Given the description of an element on the screen output the (x, y) to click on. 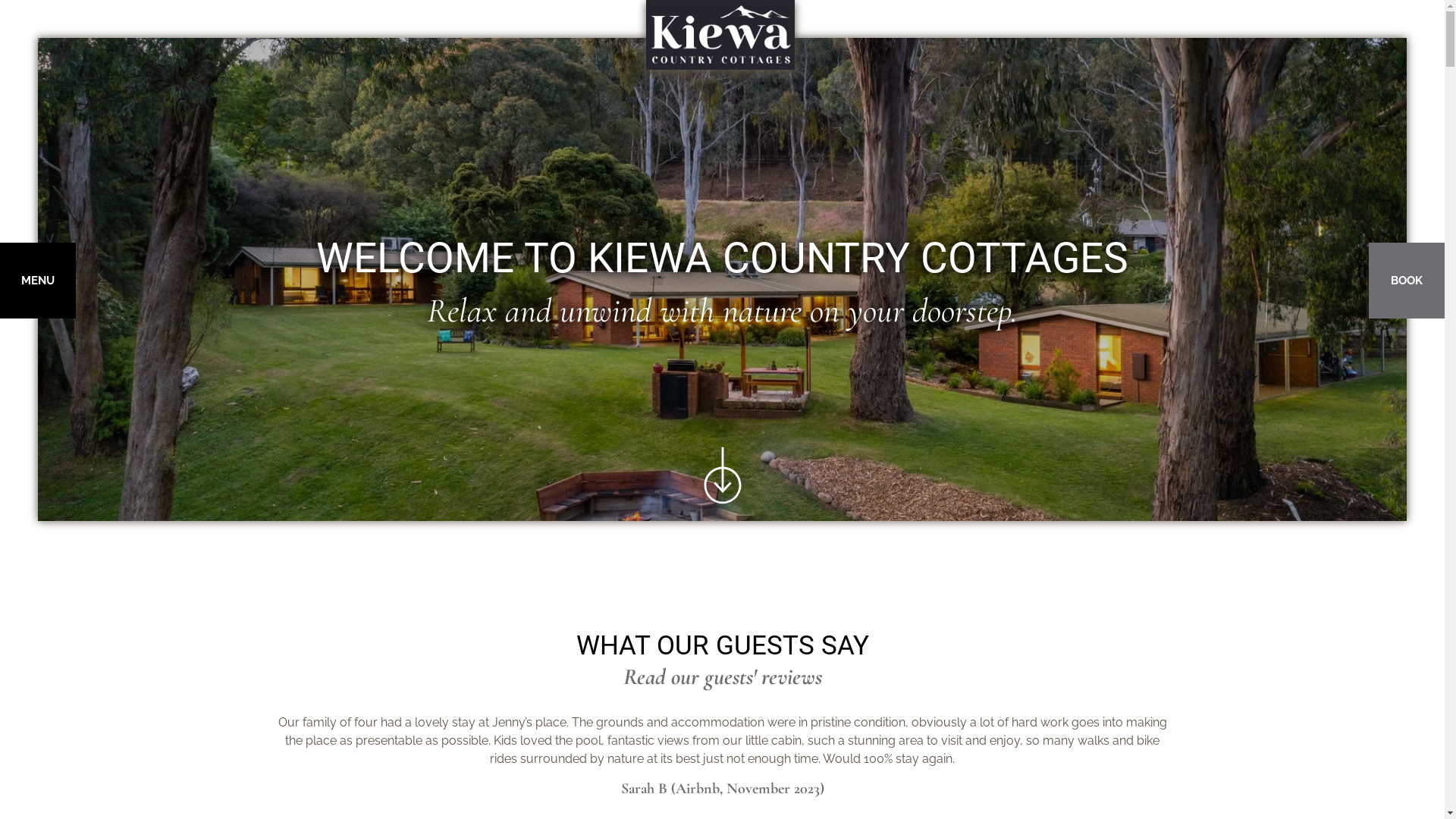
BOOK Element type: text (1406, 280)
MENU Element type: text (37, 280)
